Given the description of an element on the screen output the (x, y) to click on. 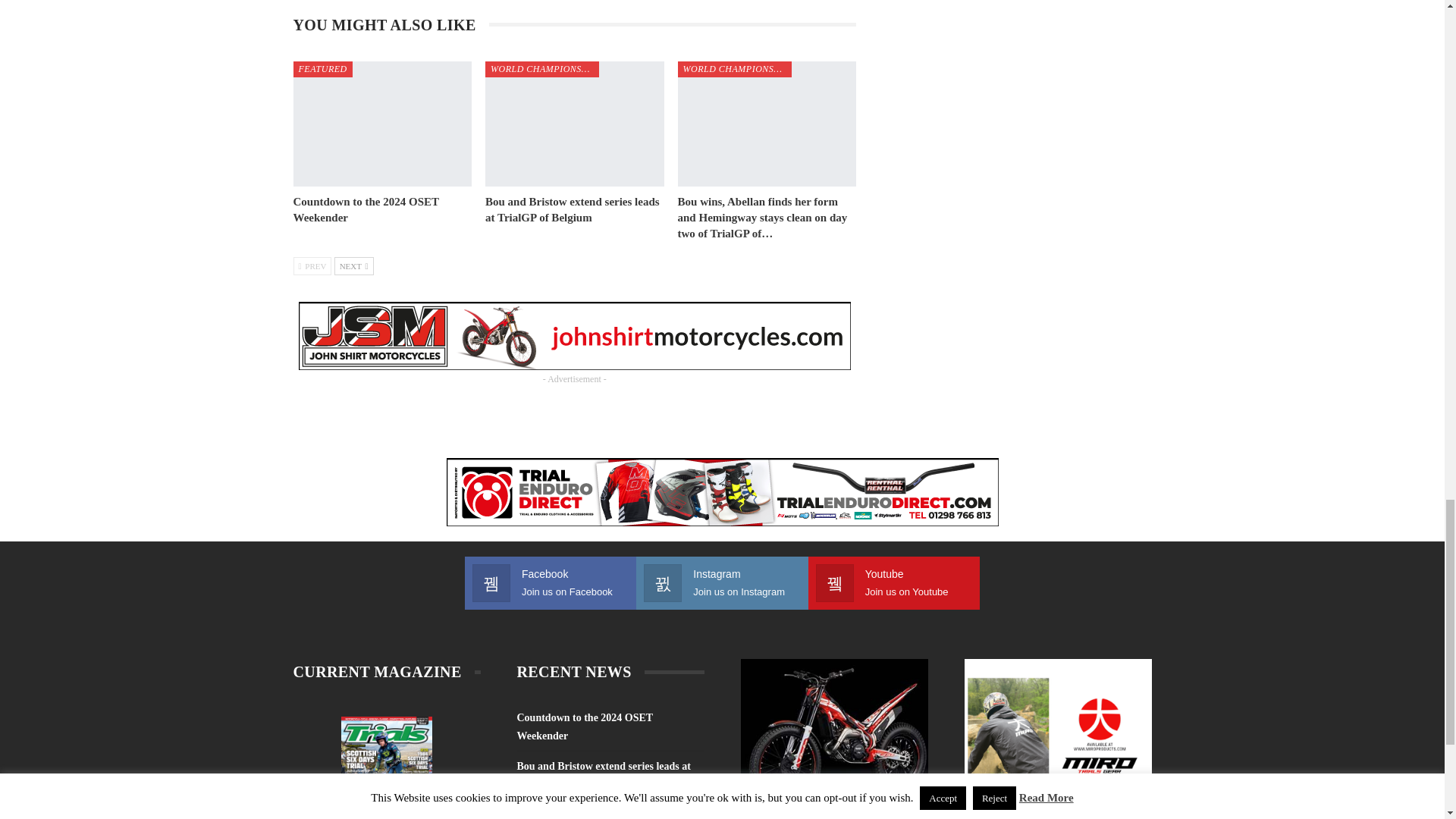
FEATURED (322, 68)
Previous (311, 266)
Next (354, 266)
Bou and Bristow extend series leads at TrialGP of Belgium (573, 123)
Bou and Bristow extend series leads at TrialGP of Belgium (571, 209)
Countdown to the 2024 OSET Weekender (381, 123)
Countdown to the 2024 OSET Weekender (365, 209)
